Given the description of an element on the screen output the (x, y) to click on. 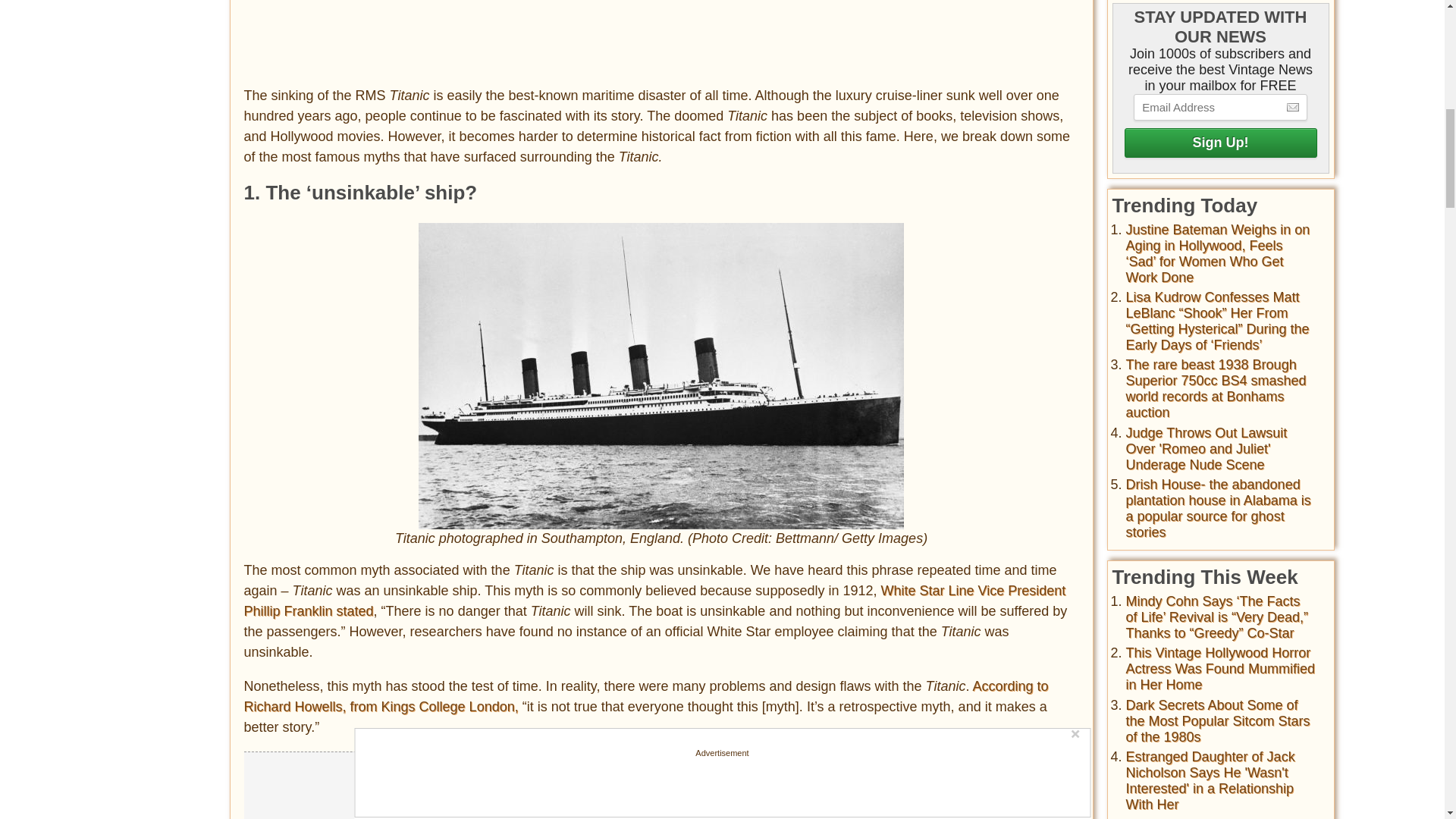
Sign Up! (1220, 142)
